Given the description of an element on the screen output the (x, y) to click on. 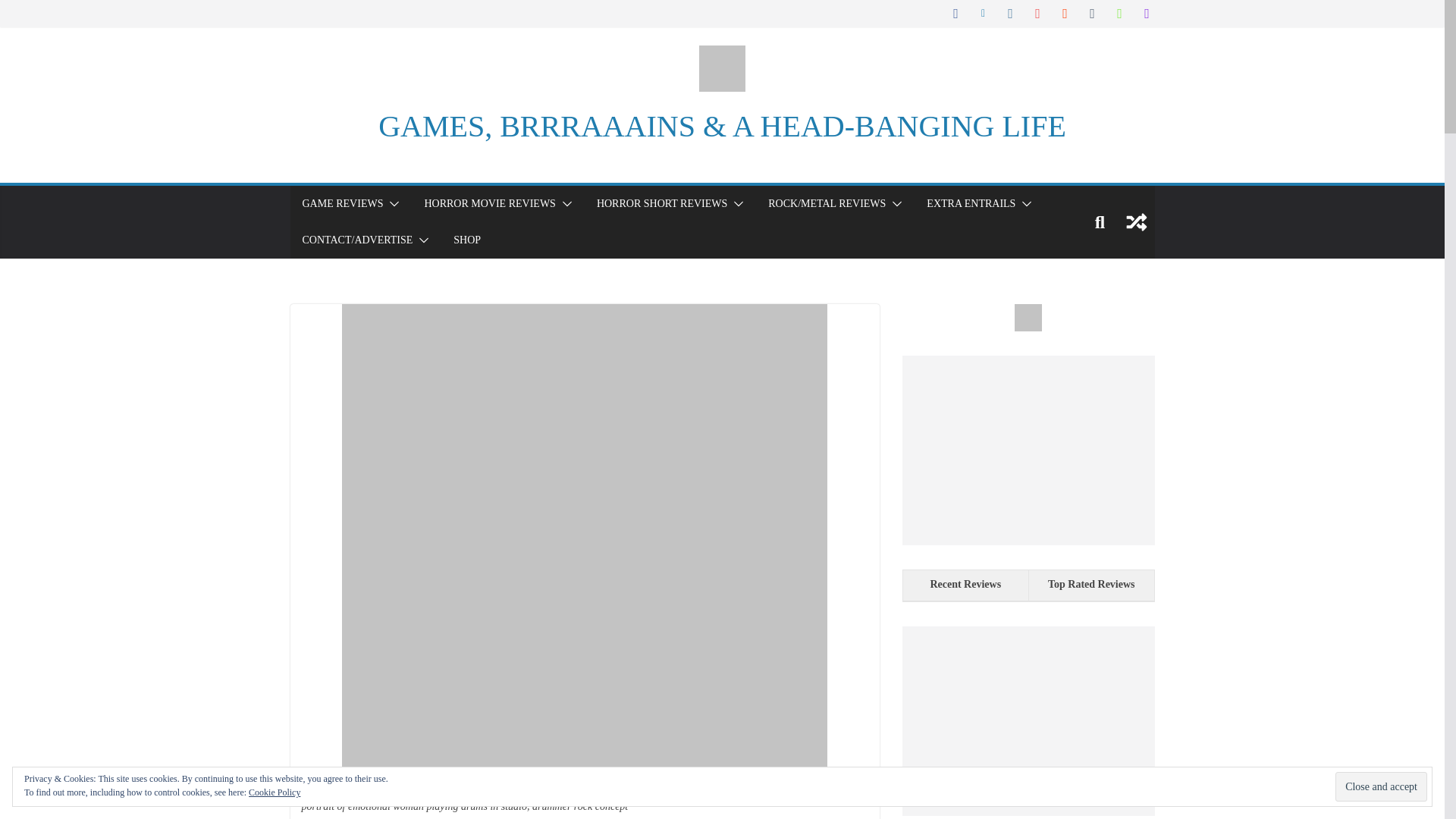
Advertisement (1027, 720)
Advertisement (1027, 450)
HORROR MOVIE REVIEWS (488, 203)
View a random post (1136, 221)
GAME REVIEWS (341, 203)
Close and accept (1380, 786)
